Given the description of an element on the screen output the (x, y) to click on. 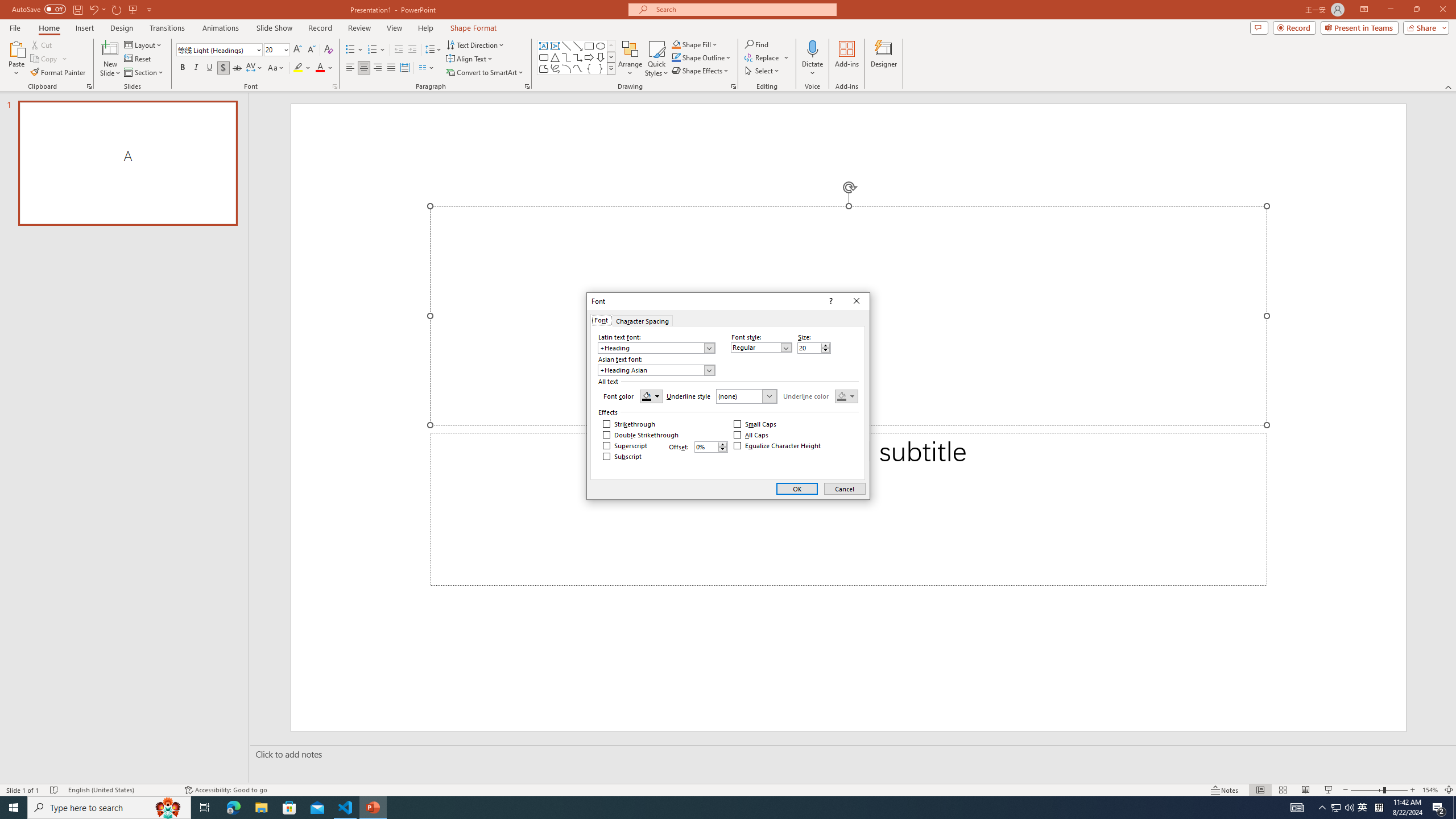
Tray Input Indicator - Chinese (Simplified, China) (1378, 807)
Zoom 154% (1430, 790)
OK (797, 488)
Font (219, 49)
Asian text font (656, 369)
Context help (829, 301)
Bullets (354, 49)
Bold (182, 67)
Paste (16, 48)
Font (215, 49)
